Given the description of an element on the screen output the (x, y) to click on. 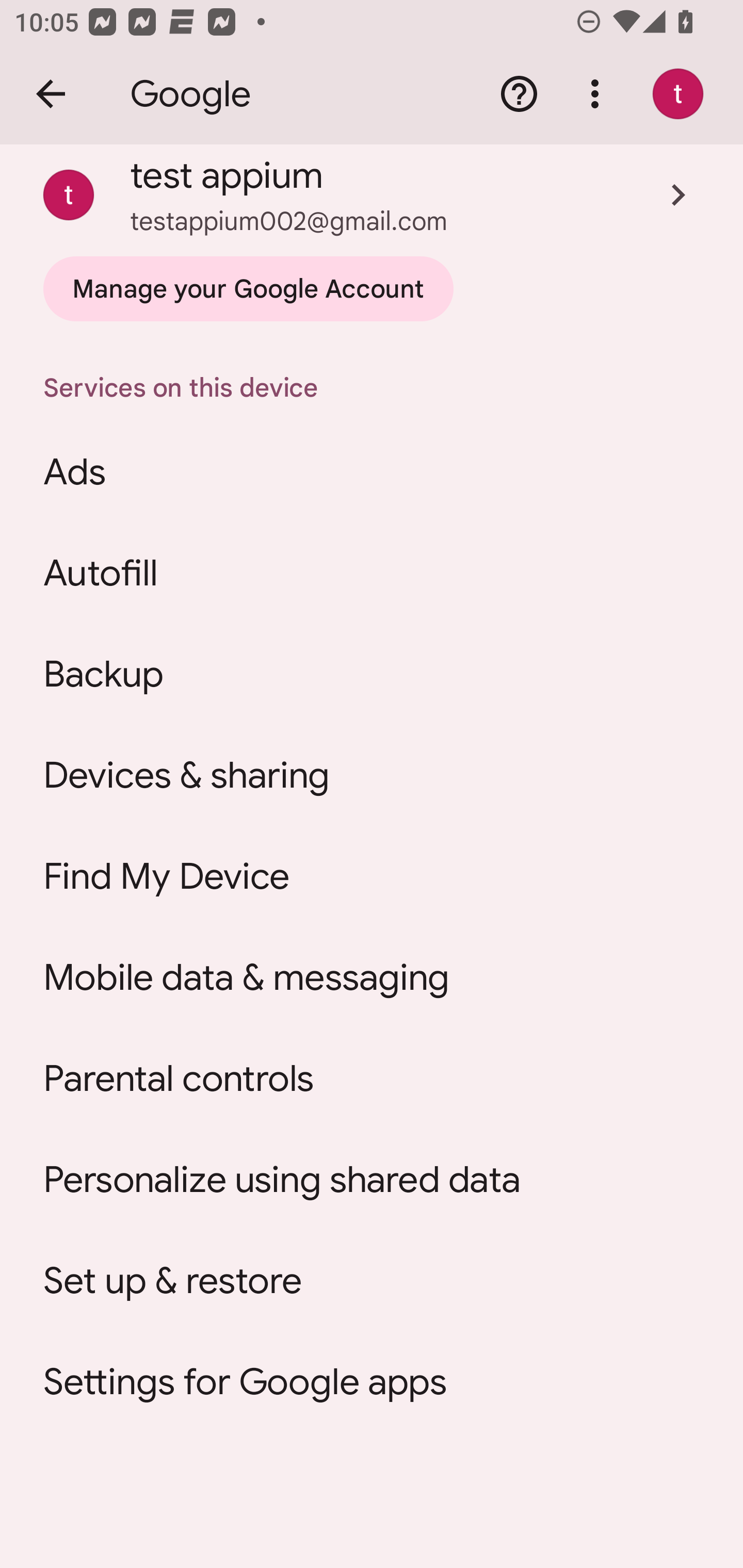
Navigate up (50, 93)
Help & feedback (518, 93)
More options (598, 93)
Manage your Google Account (248, 289)
Ads (371, 472)
Autofill (371, 573)
Backup (371, 674)
Devices & sharing (371, 775)
Find My Device (371, 876)
Mobile data & messaging (371, 977)
Parental controls (371, 1078)
Personalize using shared data (371, 1179)
Set up & restore (371, 1280)
Settings for Google apps (371, 1382)
